Given the description of an element on the screen output the (x, y) to click on. 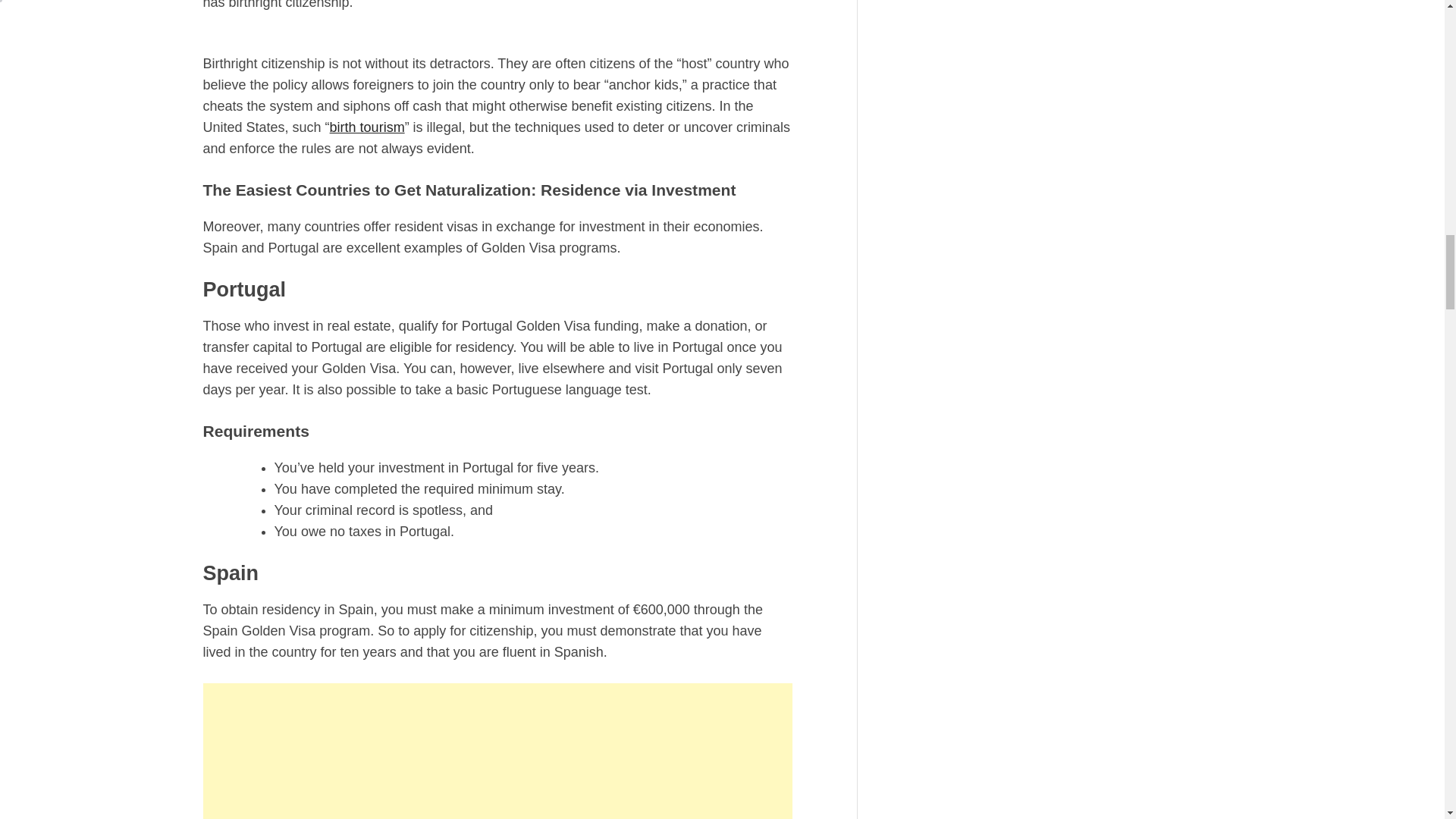
Advertisement (497, 751)
birth tourism (367, 127)
